Given the description of an element on the screen output the (x, y) to click on. 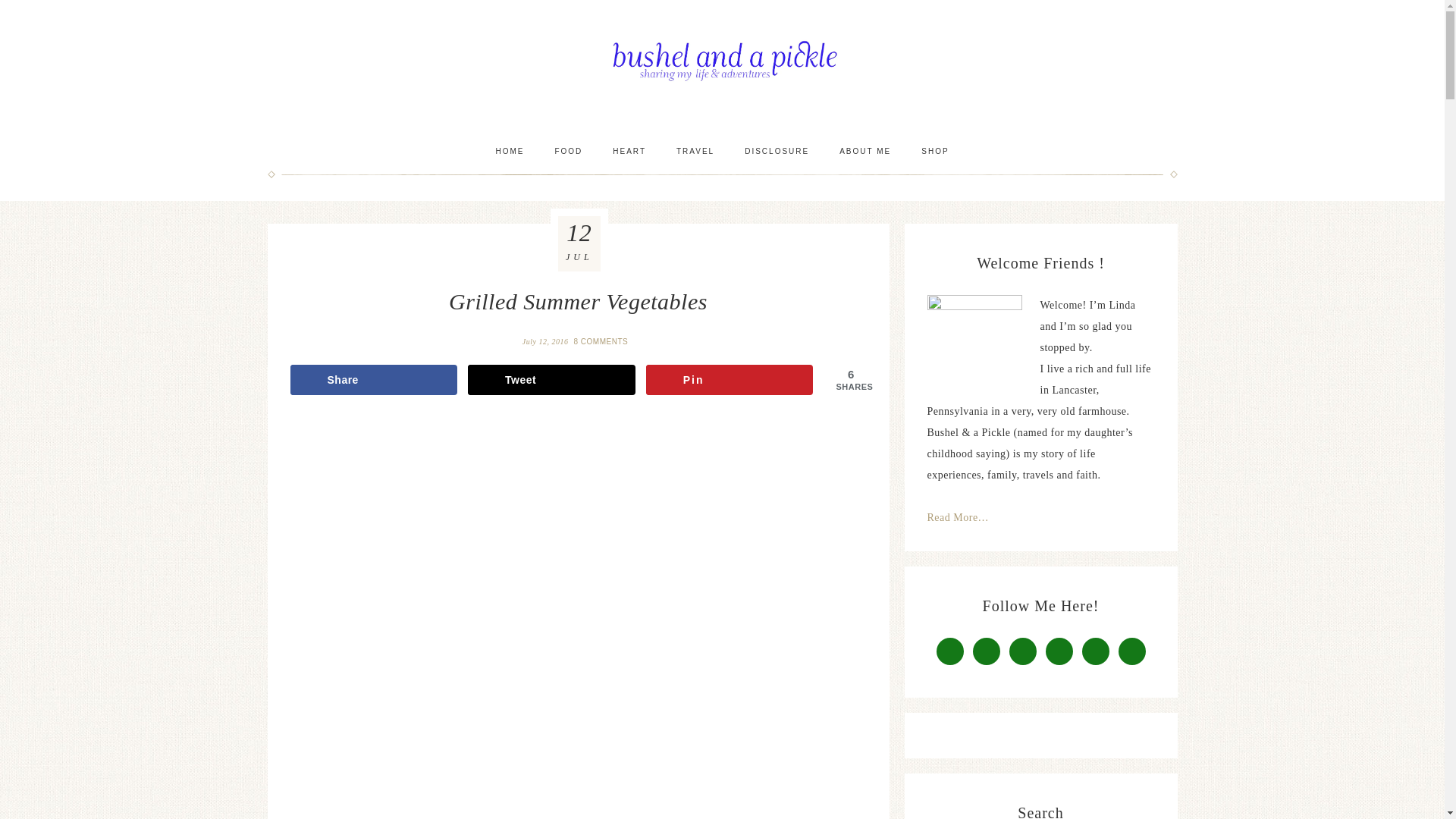
Tweet (550, 379)
Side Dish (567, 151)
TRAVEL (695, 151)
Share on X (550, 379)
Home (509, 151)
SHOP (934, 151)
Faith (628, 151)
Pin (729, 379)
Share (373, 379)
HEART (628, 151)
FOOD (567, 151)
Save to Pinterest (729, 379)
Share on Facebook (373, 379)
8 COMMENTS (601, 341)
ABOUT ME (864, 151)
